Given the description of an element on the screen output the (x, y) to click on. 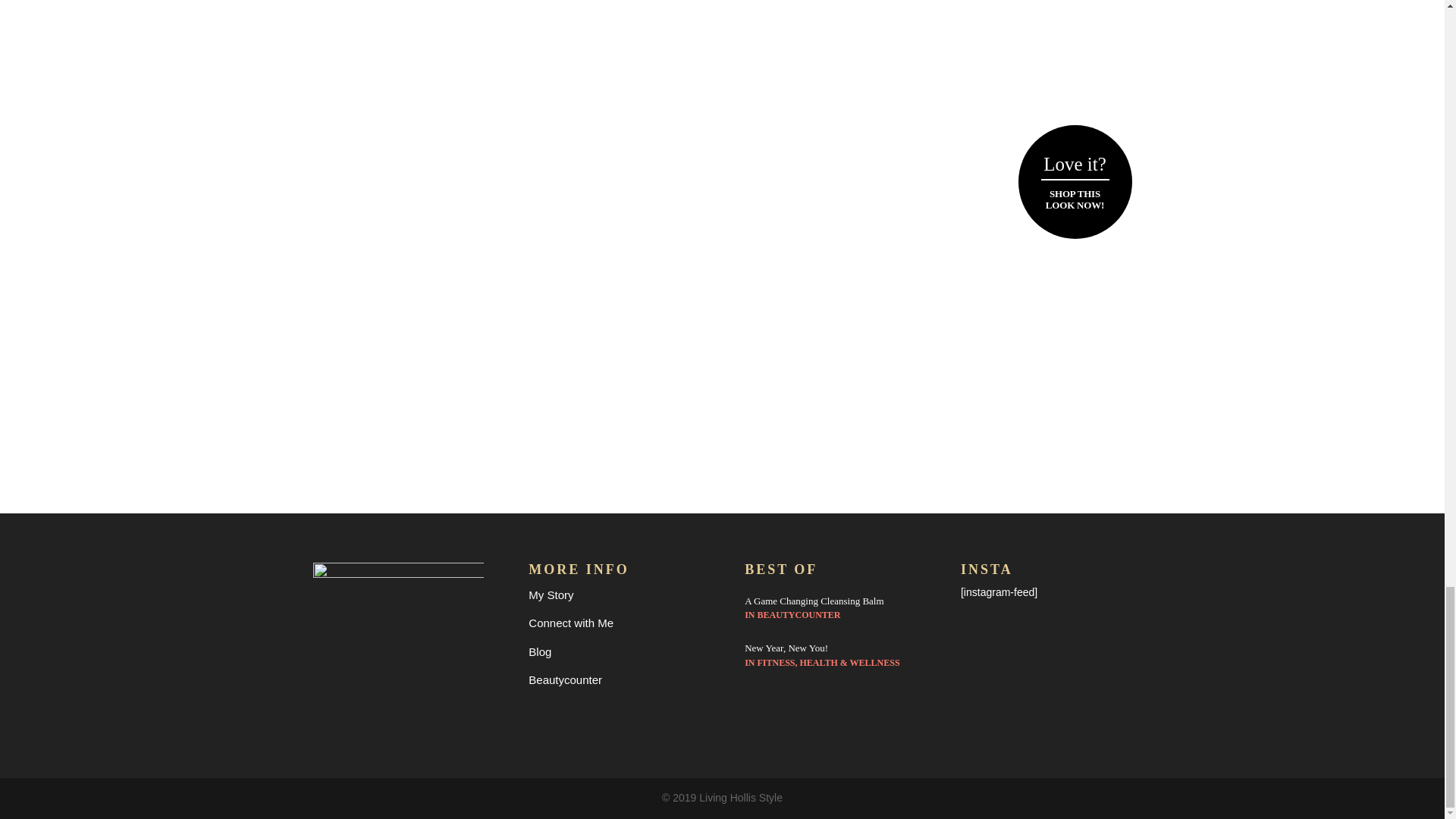
New Year, New You! (786, 646)
A Game Changing Cleansing Balm (813, 599)
FITNESS (775, 662)
My Story (550, 594)
Blog (539, 651)
Beautycounter (565, 679)
BEAUTYCOUNTER (798, 614)
Connect with Me (570, 622)
